Given the description of an element on the screen output the (x, y) to click on. 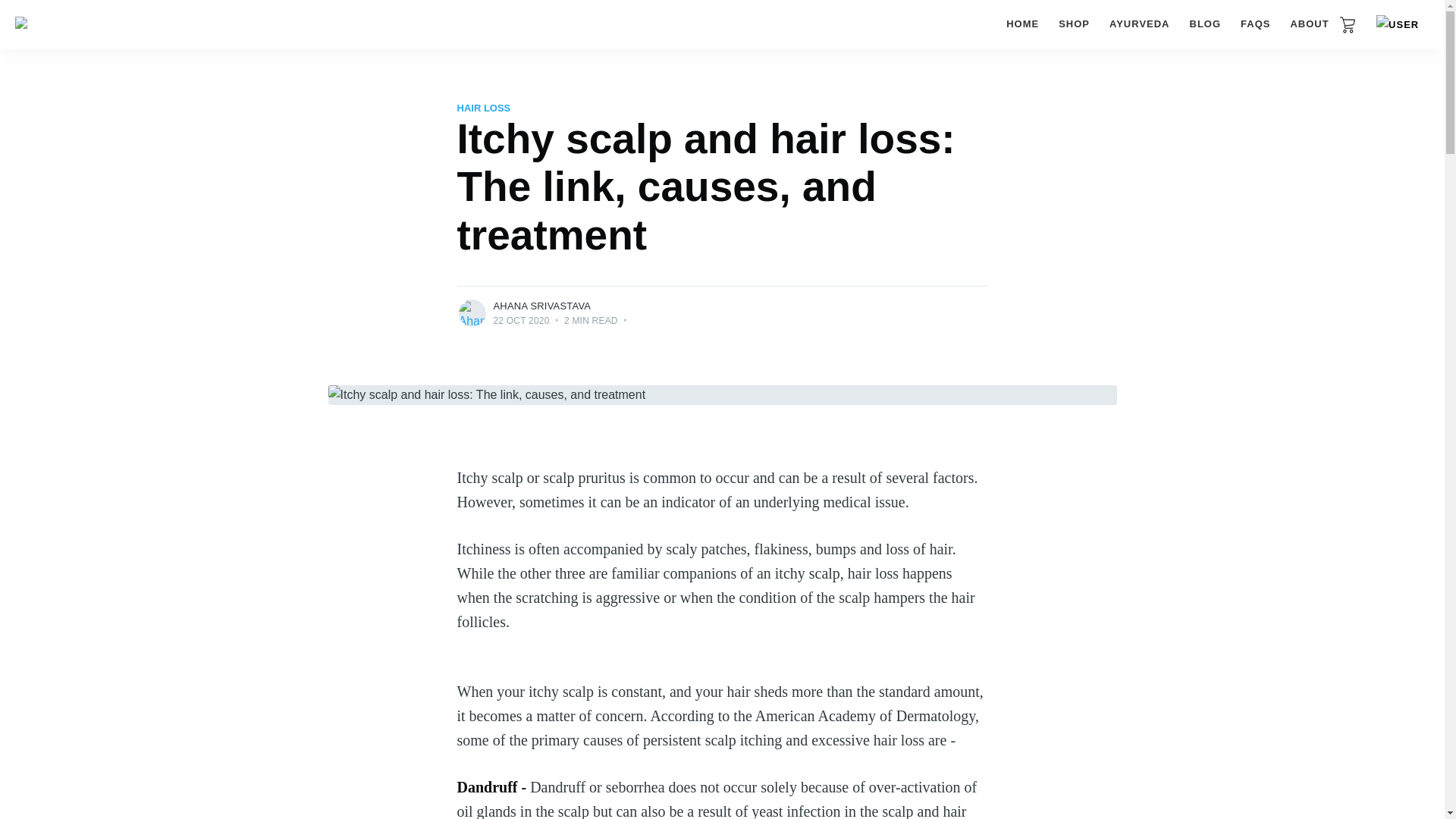
Profile (1396, 25)
HOME (1022, 24)
AHANA SRIVASTAVA (542, 306)
AYURVEDA (1139, 24)
Cart (1347, 24)
FAQS (1254, 24)
ABOUT (1308, 24)
BLOG (1205, 24)
SHOP (1073, 24)
HAIR LOSS (484, 108)
